Given the description of an element on the screen output the (x, y) to click on. 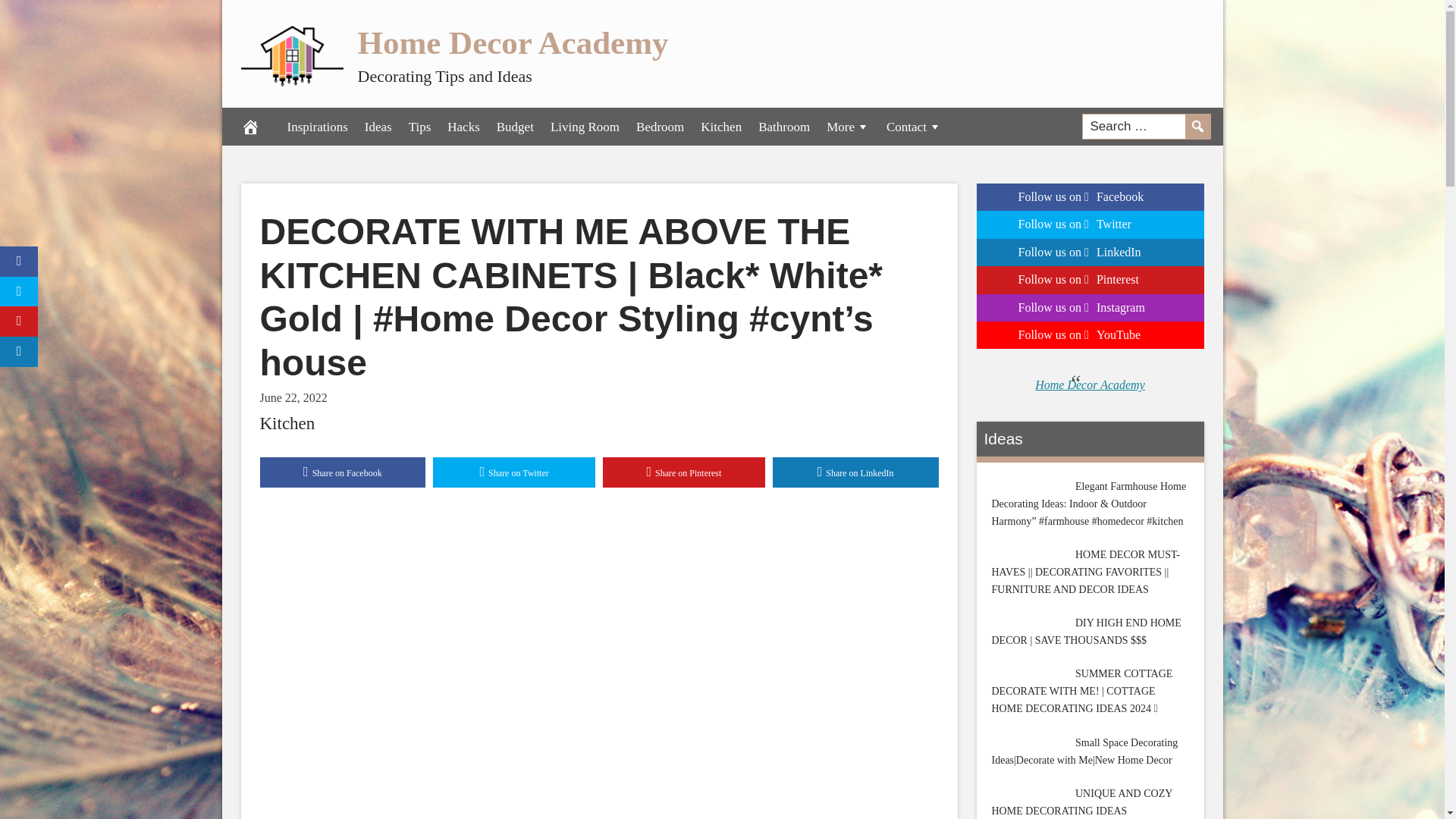
Tips (419, 126)
Bedroom (660, 126)
Inspirations (317, 126)
Bathroom (783, 126)
Ideas (378, 126)
Kitchen (286, 423)
Budget (514, 126)
Kitchen (721, 126)
Hacks (463, 126)
